Given the description of an element on the screen output the (x, y) to click on. 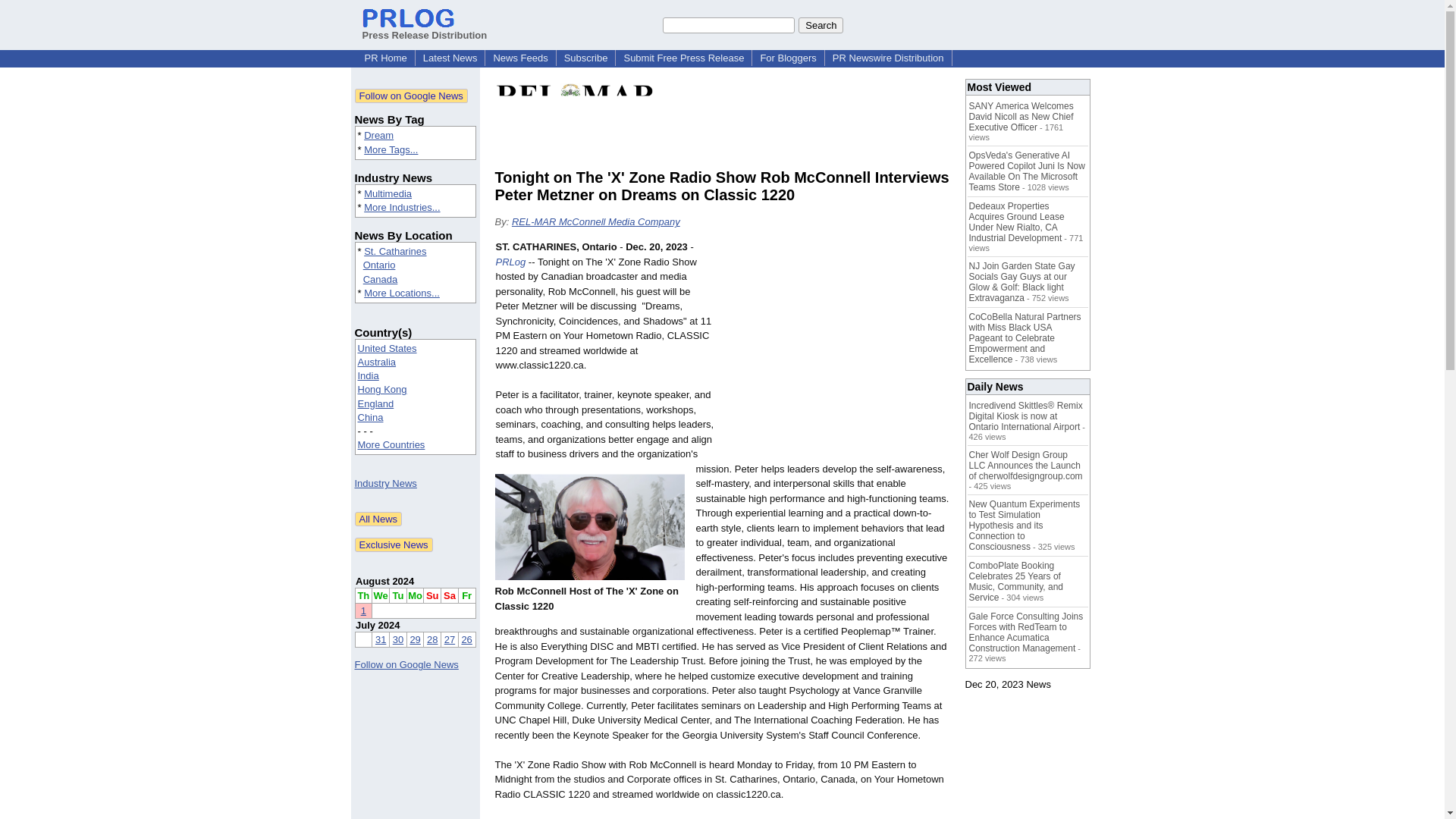
More Industries... (401, 206)
Multimedia (388, 193)
Latest News (449, 57)
Click on an option to filter or browse by that option (415, 397)
30 (398, 639)
29 (414, 639)
Follow on Google News (411, 95)
All News (379, 518)
PR Newswire Distribution (888, 57)
Ontario (379, 265)
